Given the description of an element on the screen output the (x, y) to click on. 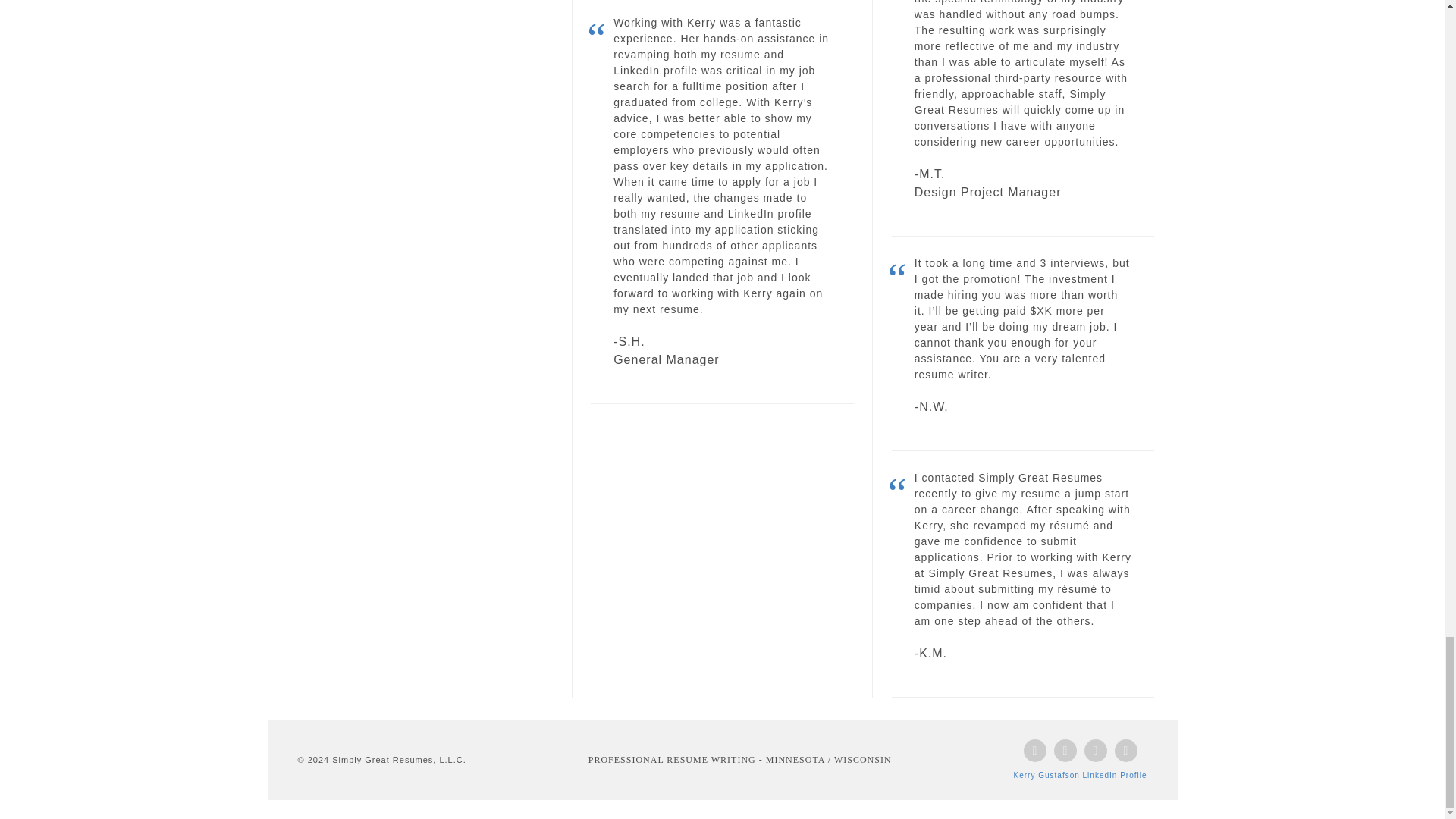
Kerry Gustafson LinkedIn Profile (1080, 775)
